Given the description of an element on the screen output the (x, y) to click on. 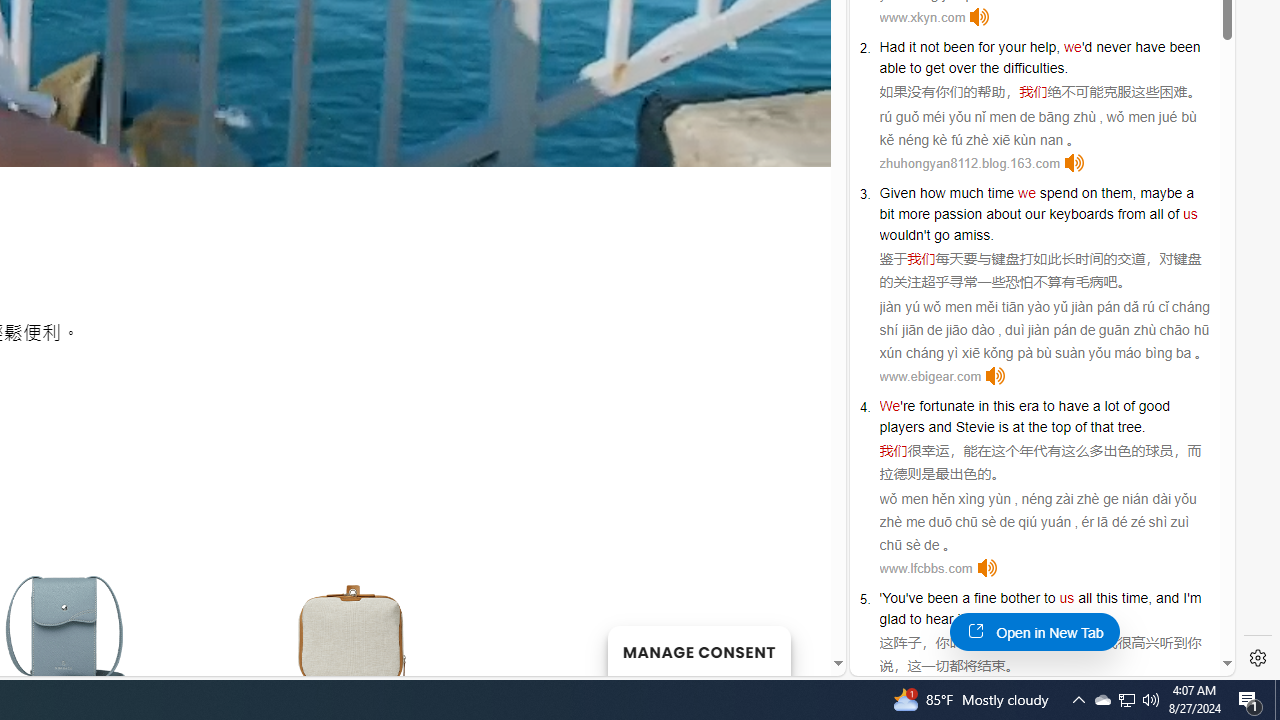
from (1131, 213)
the (989, 67)
players (902, 426)
have (1073, 405)
I (1184, 597)
